Given the description of an element on the screen output the (x, y) to click on. 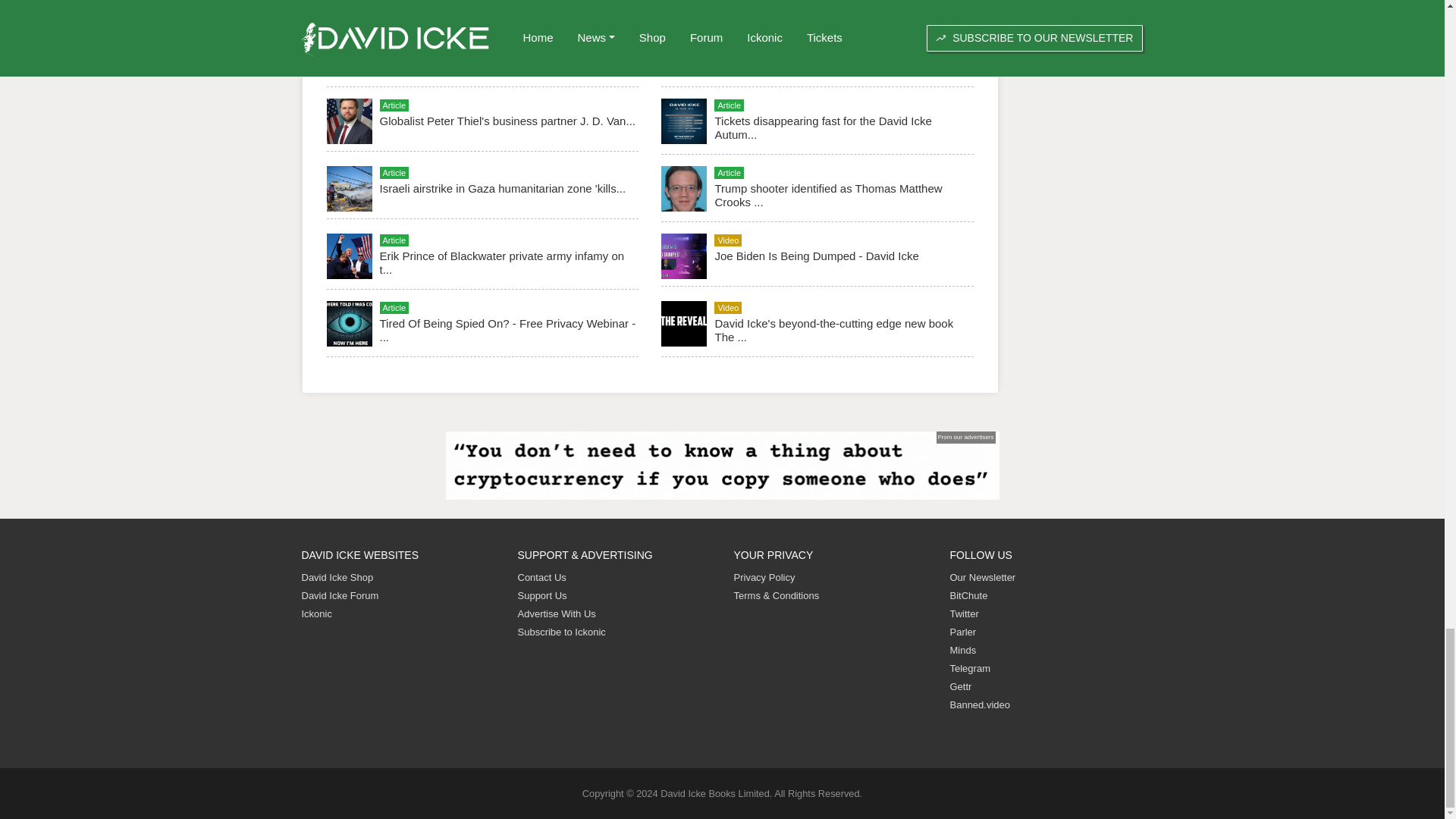
Israel wipes out UN Headquarters, Biden gives them the bombs (496, 2)
